Given the description of an element on the screen output the (x, y) to click on. 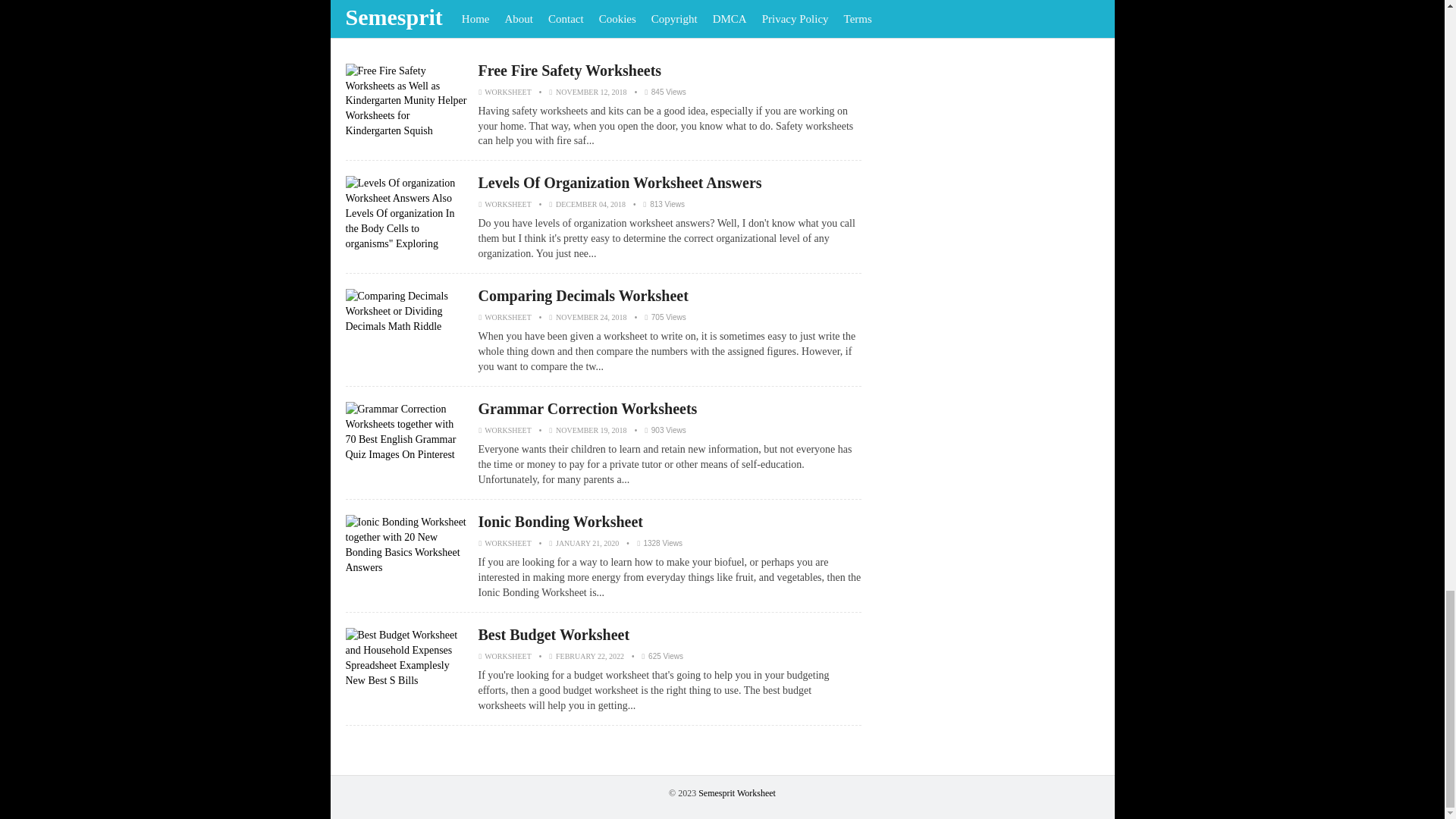
WORKSHEET (507, 316)
Comparing Decimals Worksheet (582, 295)
WORKSHEET (507, 203)
Levels Of Organization Worksheet Answers (619, 182)
Free Fire Safety Worksheets (569, 70)
Ionic Bonding Worksheet (559, 521)
WORKSHEET (507, 542)
WORKSHEET (507, 91)
Grammar Correction Worksheets (587, 408)
Best Budget Worksheet (552, 634)
